Given the description of an element on the screen output the (x, y) to click on. 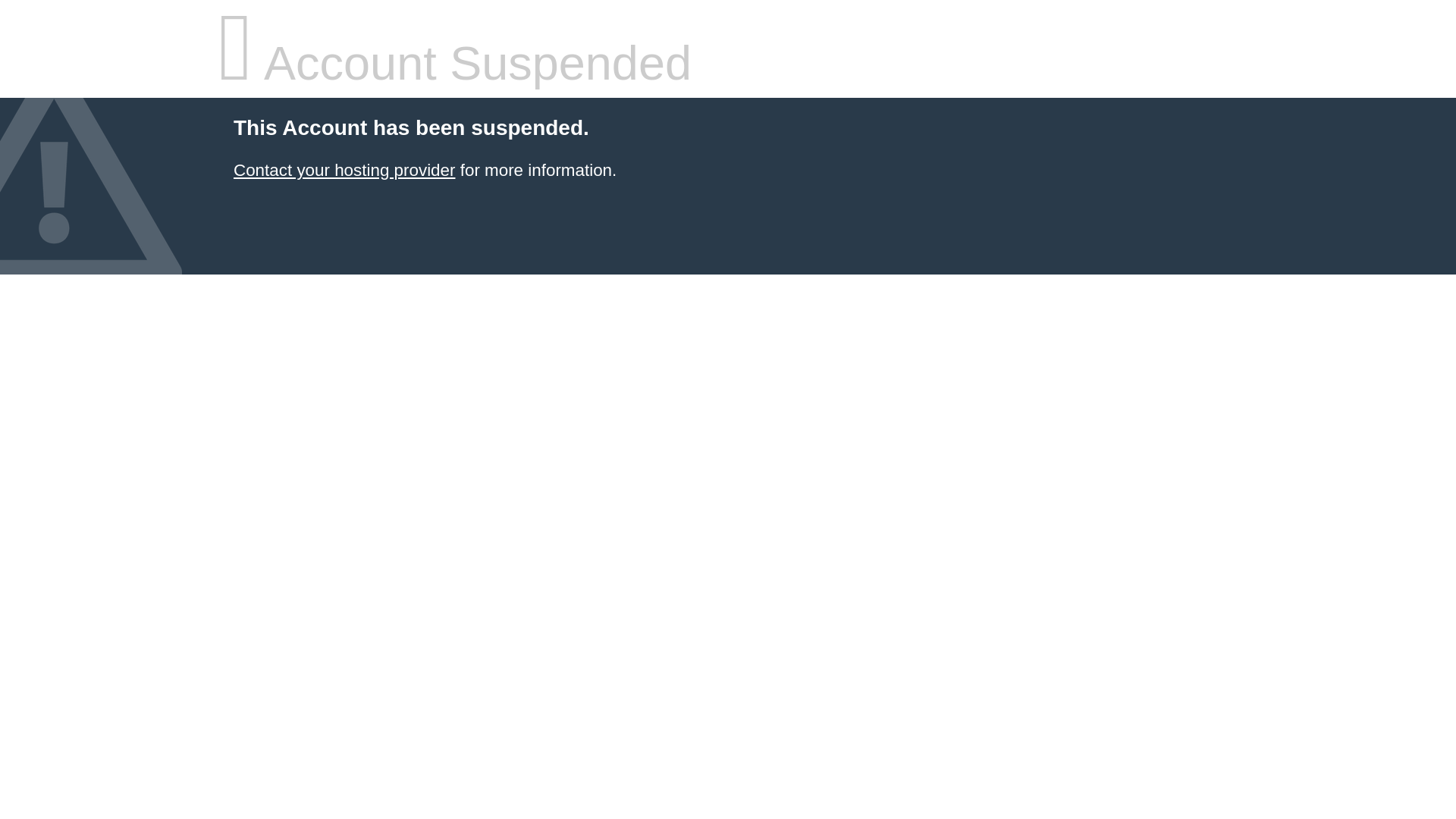
Contact your hosting provider (343, 169)
